Given the description of an element on the screen output the (x, y) to click on. 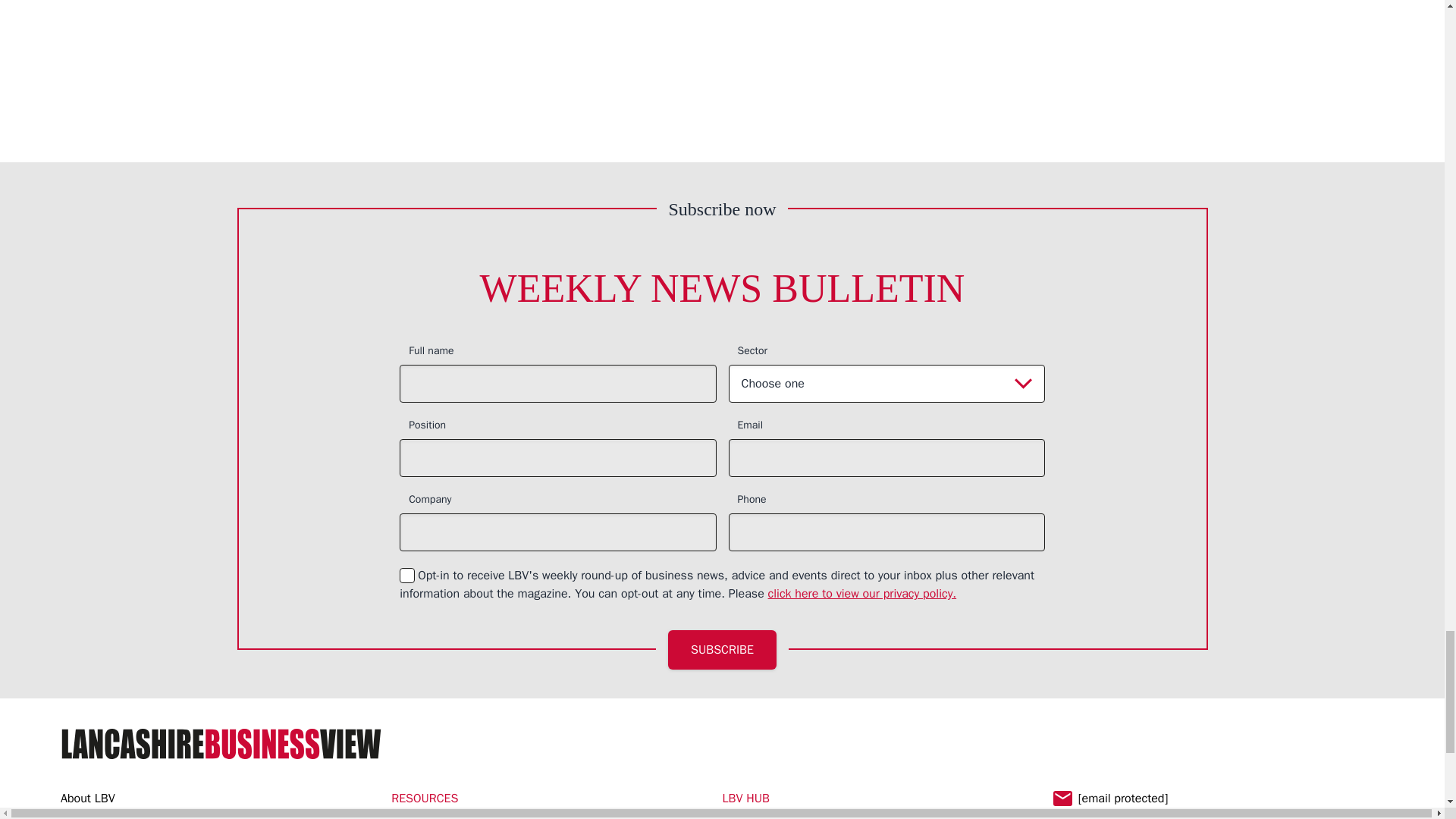
Privacy Policy (862, 593)
